Given the description of an element on the screen output the (x, y) to click on. 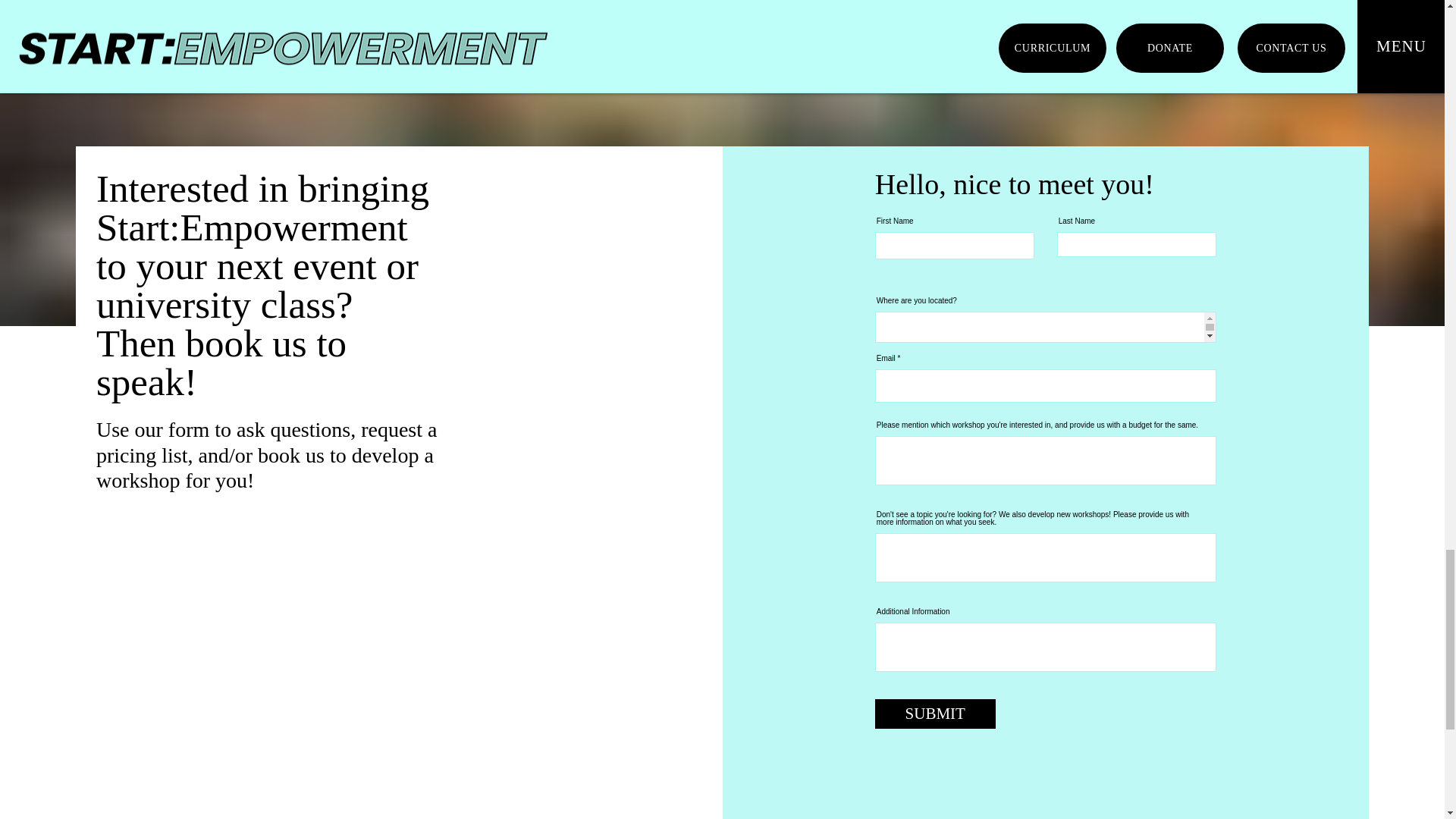
SUBMIT (935, 713)
